Given the description of an element on the screen output the (x, y) to click on. 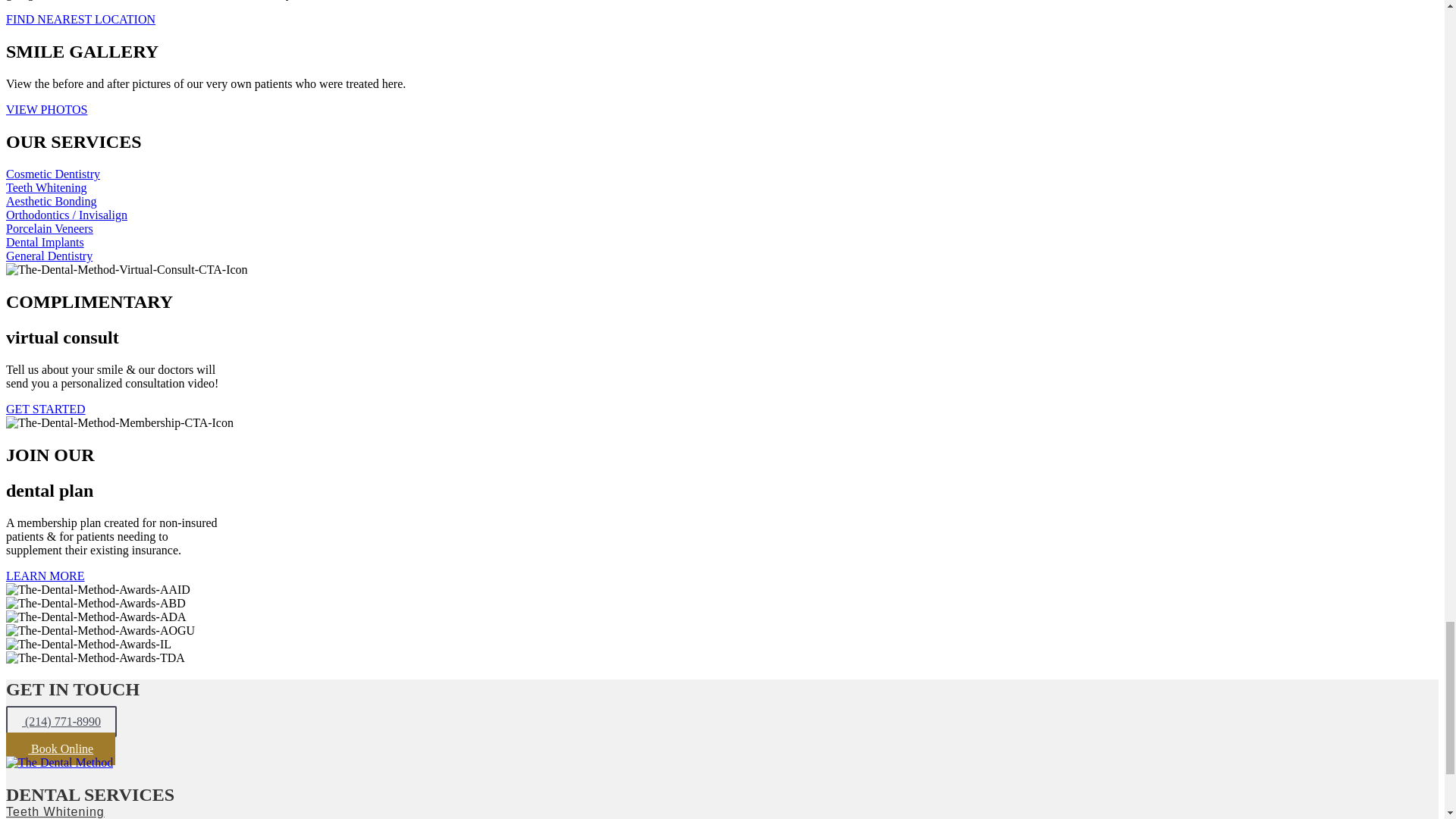
The-Dental-Method-Awards-TDA (94, 657)
The-Dental-Method-Awards-ADA (95, 616)
The-Dental-Method-Awards-AAID (97, 589)
The-Dental-Method-Awards-IL (88, 643)
The-Dental-Method-Virtual-Consult-CTA-Icon (126, 269)
The-Dental-Method-Awards-ABD (95, 602)
The-Dental-Method-Membership-CTA-Icon (118, 422)
The-Dental-Method-Awards-AOGU (100, 630)
